Given the description of an element on the screen output the (x, y) to click on. 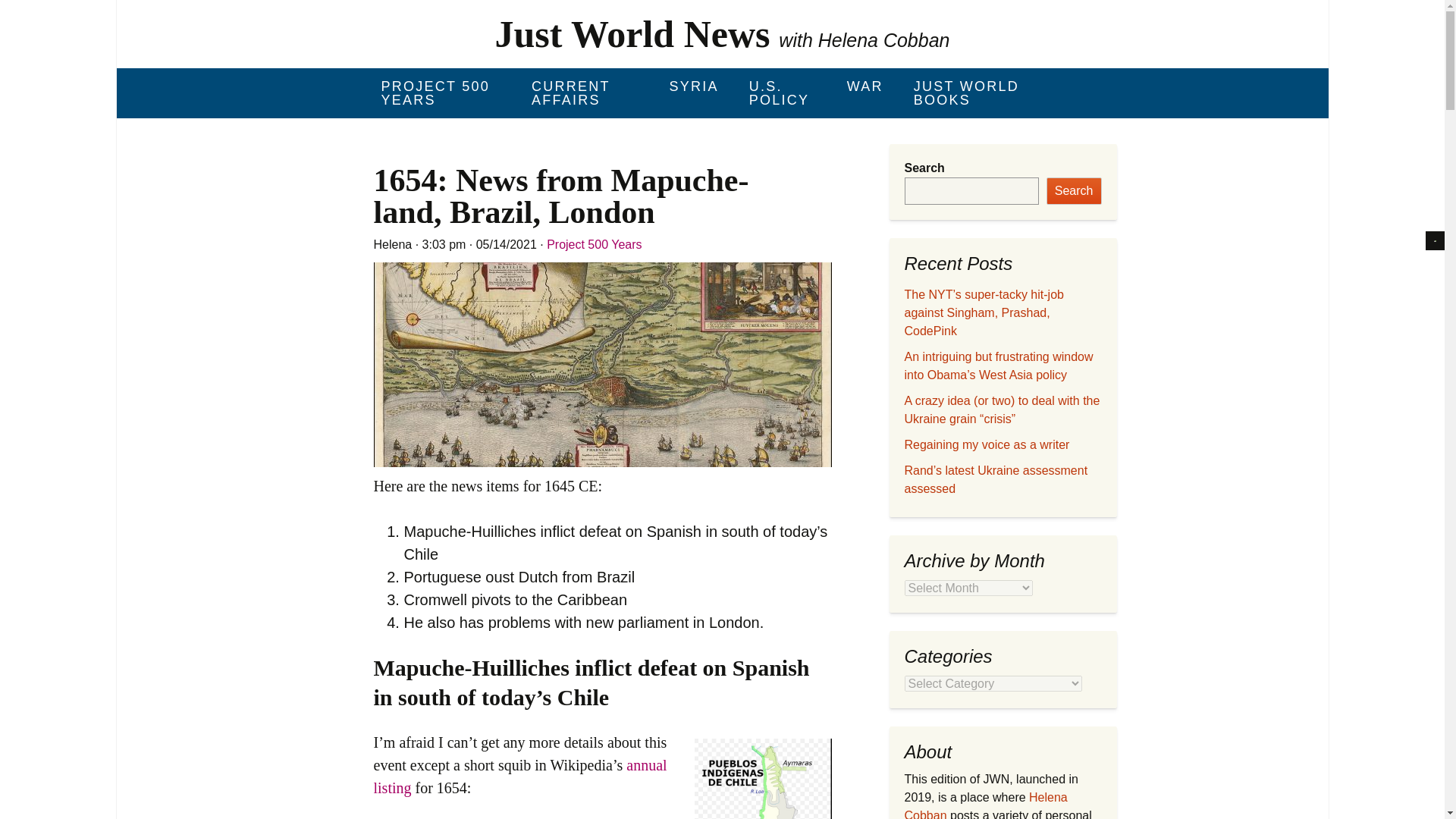
U.S. POLICY (782, 92)
Helena Cobban (985, 805)
Just World News (721, 33)
SYRIA (693, 85)
Just World News with Helena Cobban (721, 33)
Regaining my voice as a writer (986, 444)
Search (1074, 190)
PROJECT 500 YEARS (440, 92)
Project 500 Years (594, 244)
WAR (864, 85)
